Given the description of an element on the screen output the (x, y) to click on. 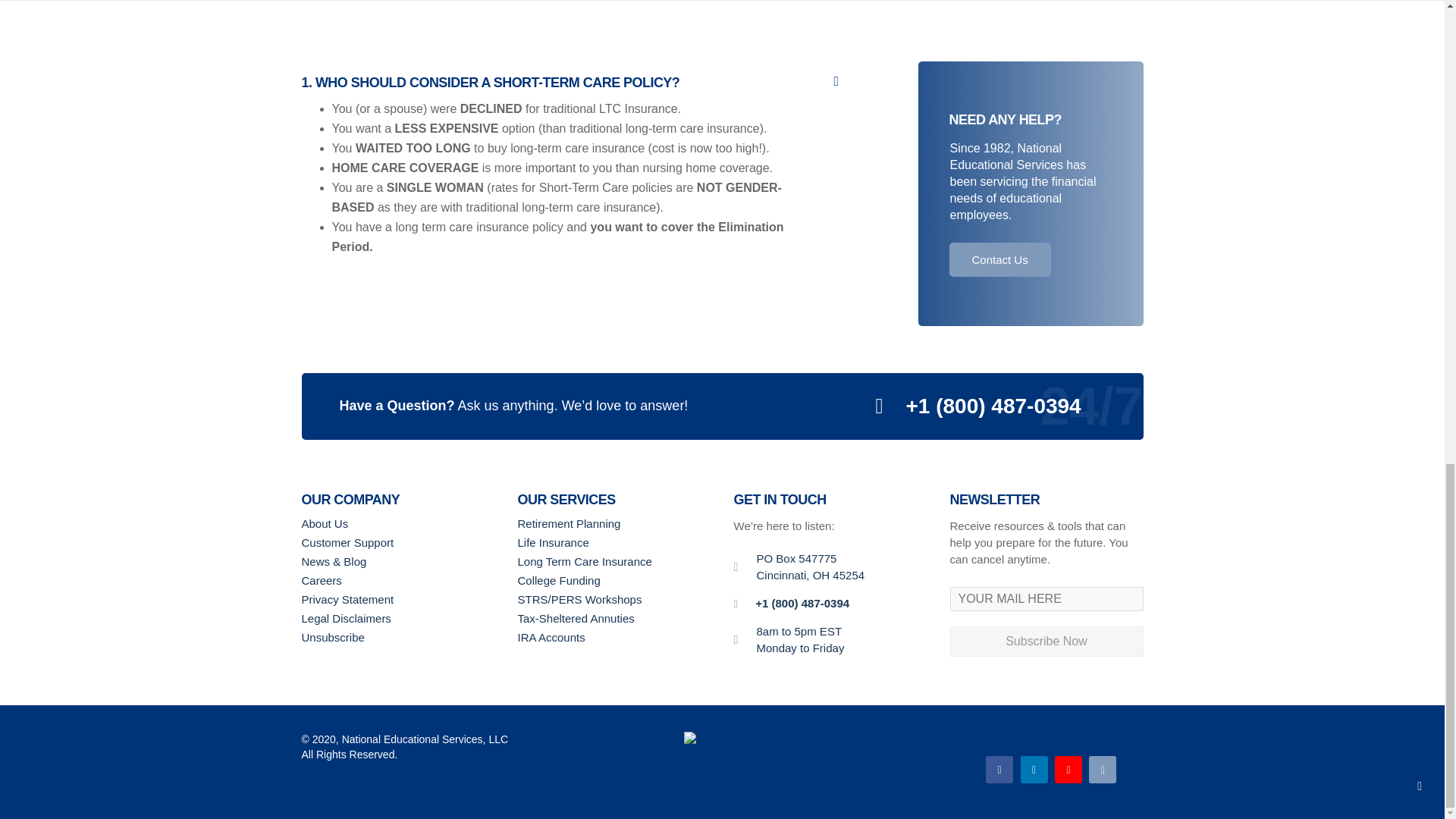
About Us (398, 523)
Customer Support (398, 542)
Contact Us (1000, 259)
WHO SHOULD CONSIDER A SHORT-TERM CARE POLICY? (581, 80)
